Given the description of an element on the screen output the (x, y) to click on. 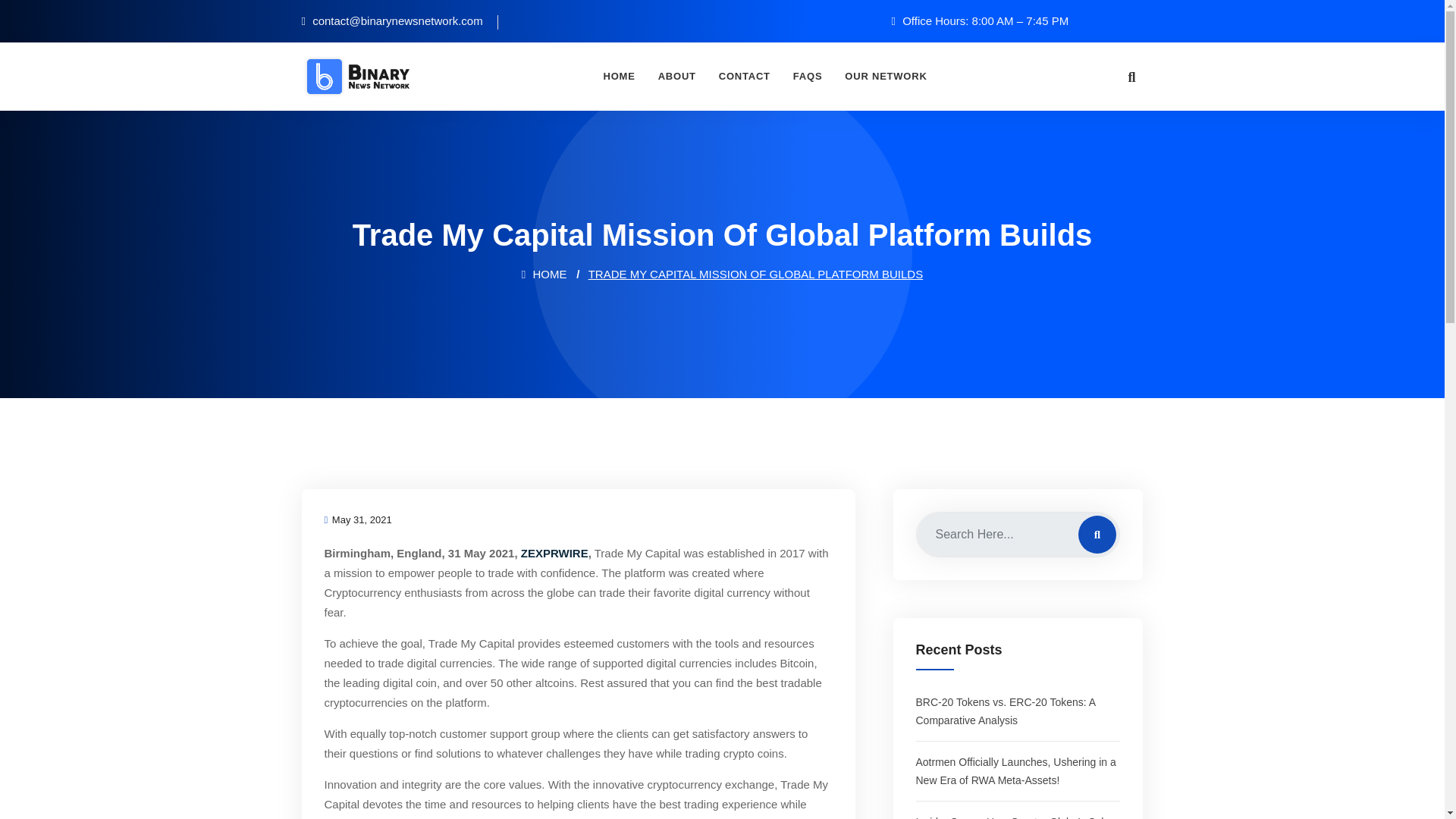
Contact (744, 76)
CONTACT (744, 76)
ZEXPRWIRE (554, 553)
Our Network (884, 76)
BRC-20 Tokens vs. ERC-20 Tokens: A Comparative Analysis (1005, 711)
OUR NETWORK (884, 76)
HOME (544, 273)
